Given the description of an element on the screen output the (x, y) to click on. 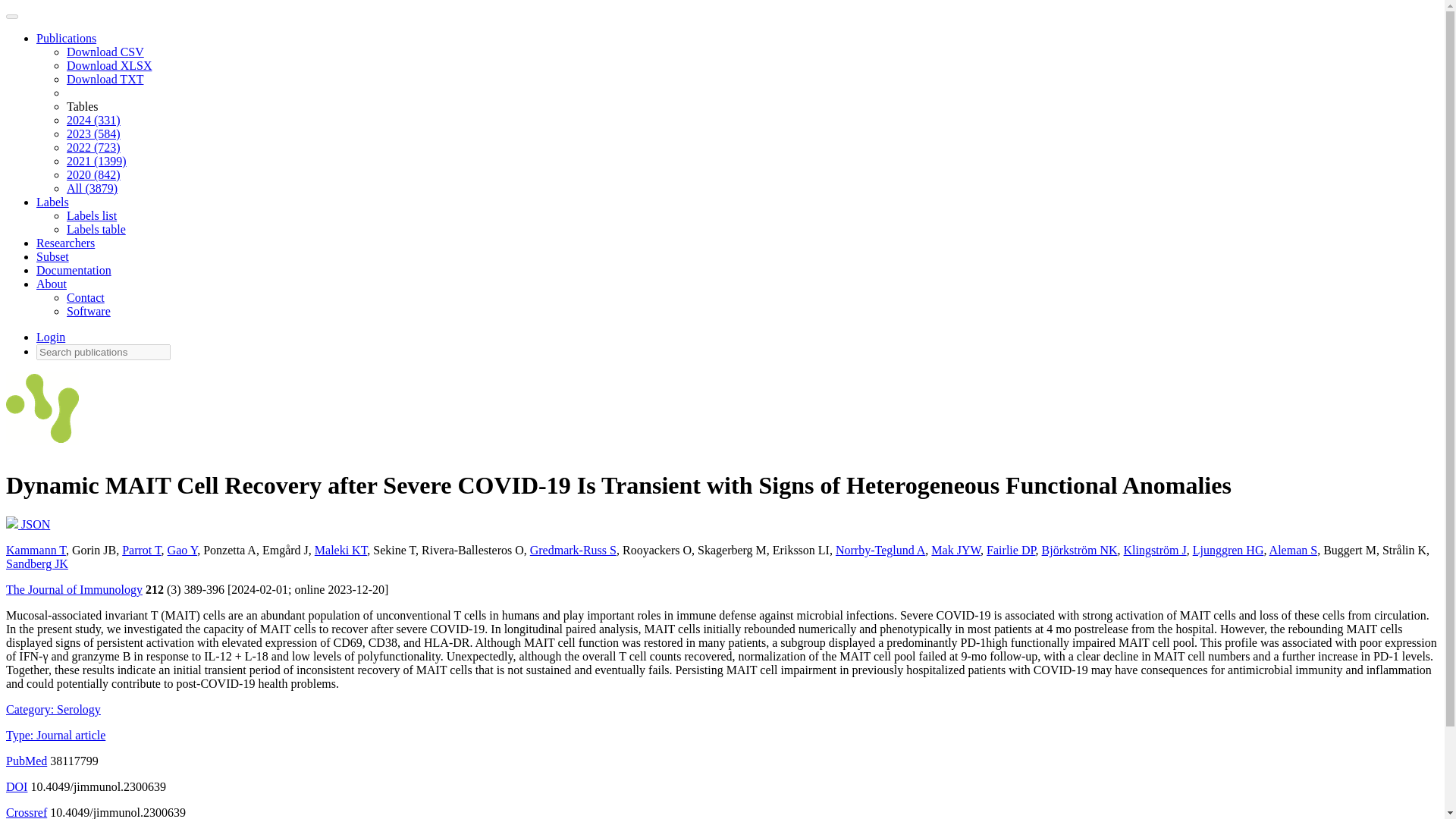
Software (88, 310)
Contact (85, 297)
Aleman S (1293, 549)
Parrot T (141, 549)
Category: Serology (52, 708)
Login (50, 336)
Mak JYW (955, 549)
Download TXT (104, 78)
Type: Journal article (54, 735)
PubMed (25, 760)
